Given the description of an element on the screen output the (x, y) to click on. 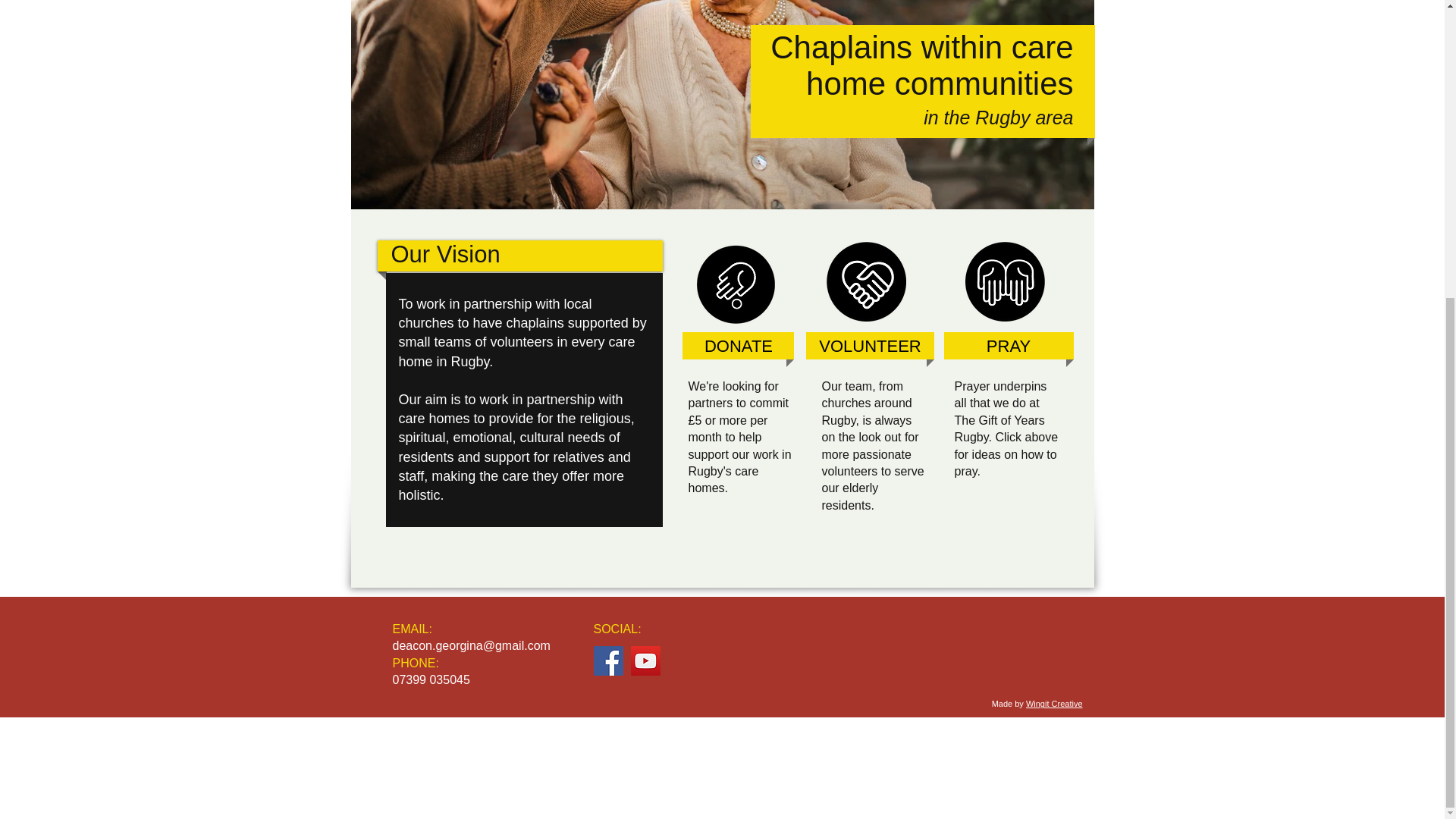
HAND1.png (1003, 281)
Wingit Creative (1054, 703)
VOLUNTEER (870, 346)
PRAY (1008, 346)
DONATE (738, 346)
III.png (734, 281)
LEV.png (866, 281)
